Given the description of an element on the screen output the (x, y) to click on. 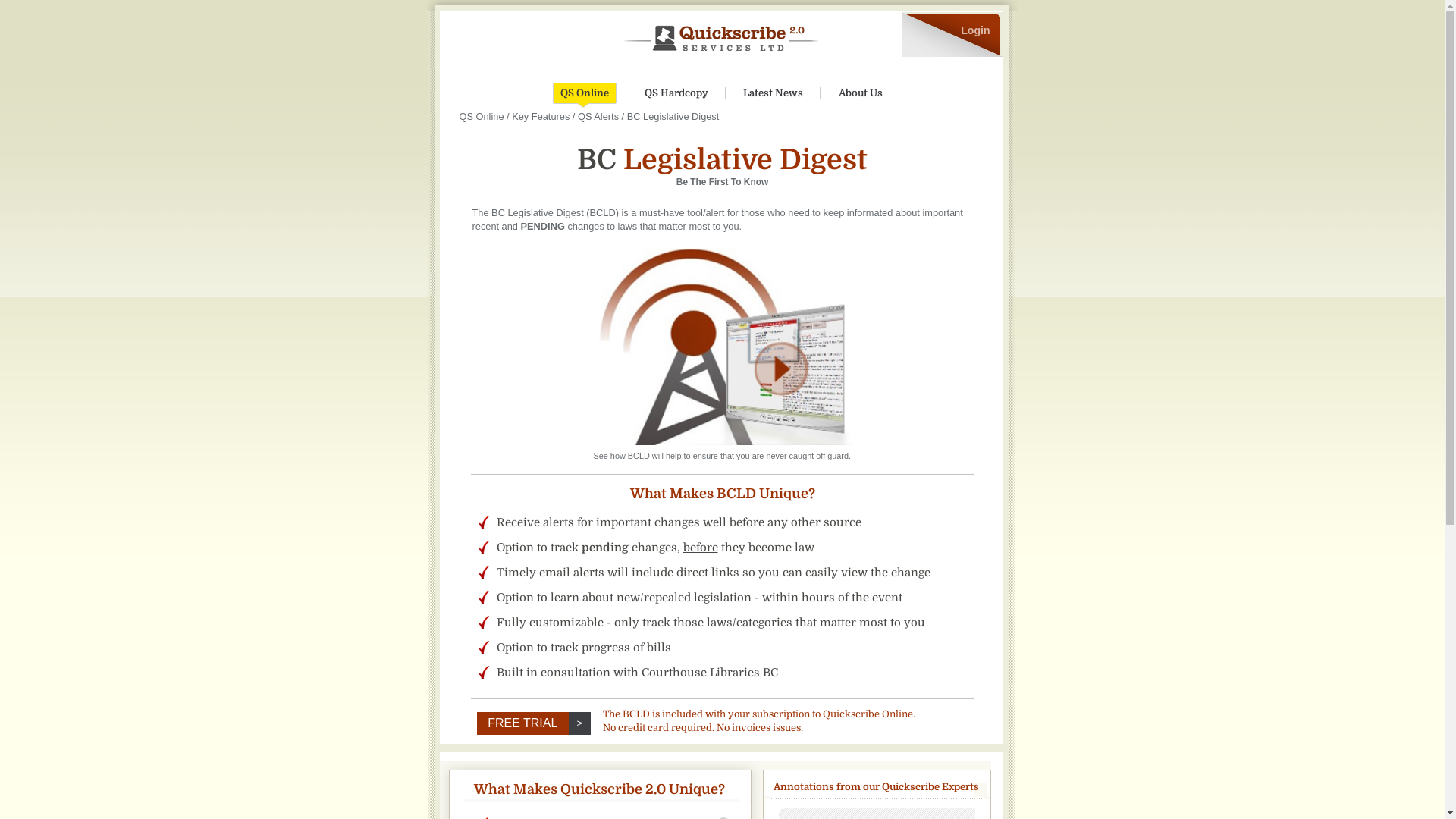
QS Hardcopy Element type: text (676, 92)
Latest News Element type: text (772, 92)
Login Element type: text (974, 30)
QS Online Element type: text (481, 116)
FREE TRIAL > Element type: text (536, 723)
QS Online Element type: text (584, 92)
About Us Element type: text (860, 92)
